Given the description of an element on the screen output the (x, y) to click on. 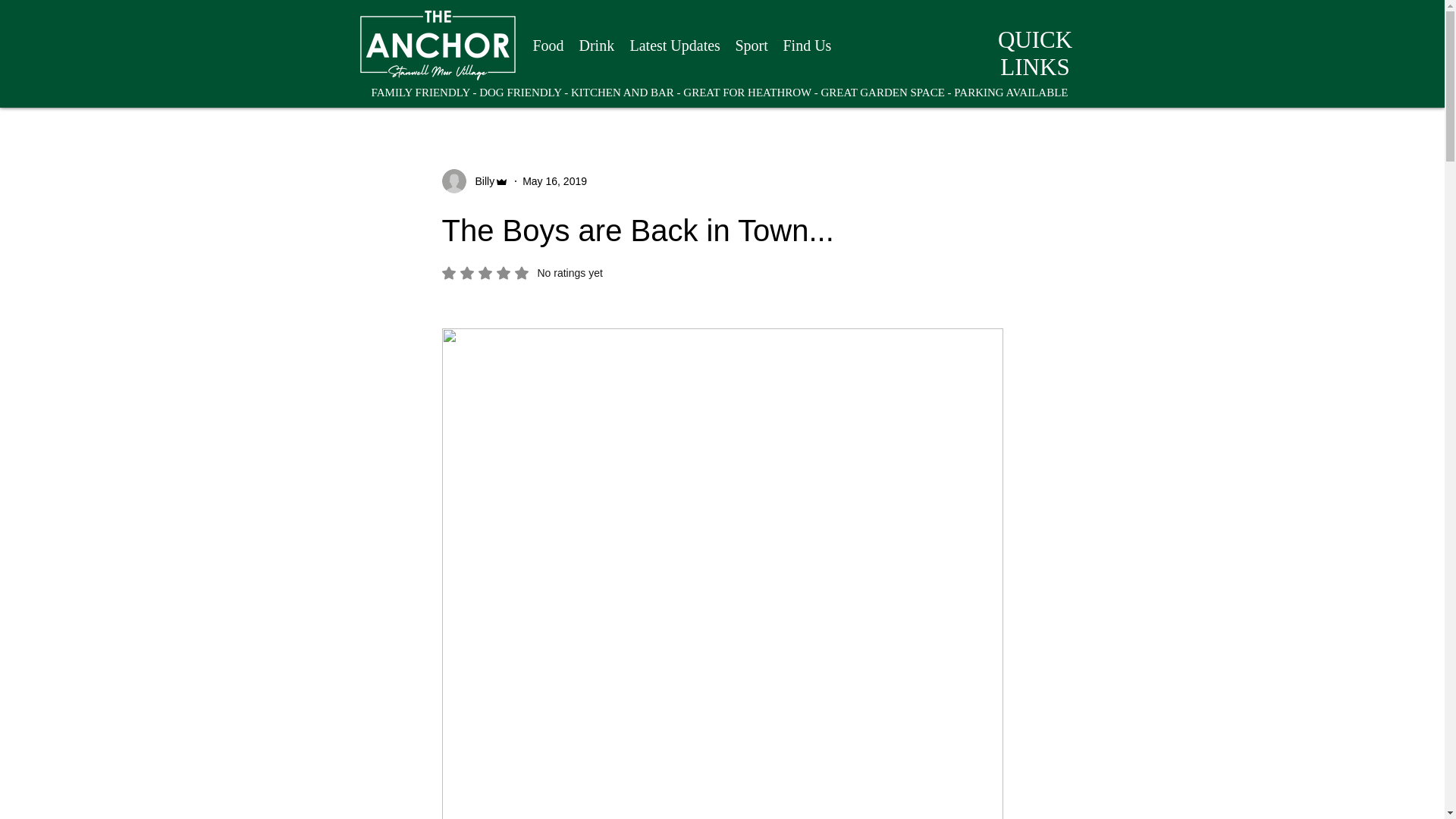
QUICK LINKS (1034, 53)
Find Us (806, 45)
Latest Updates (673, 45)
Food (547, 45)
The Anchor Logo.png (437, 45)
Billy (474, 180)
Sport (752, 45)
Billy (480, 180)
Drink (521, 273)
